Given the description of an element on the screen output the (x, y) to click on. 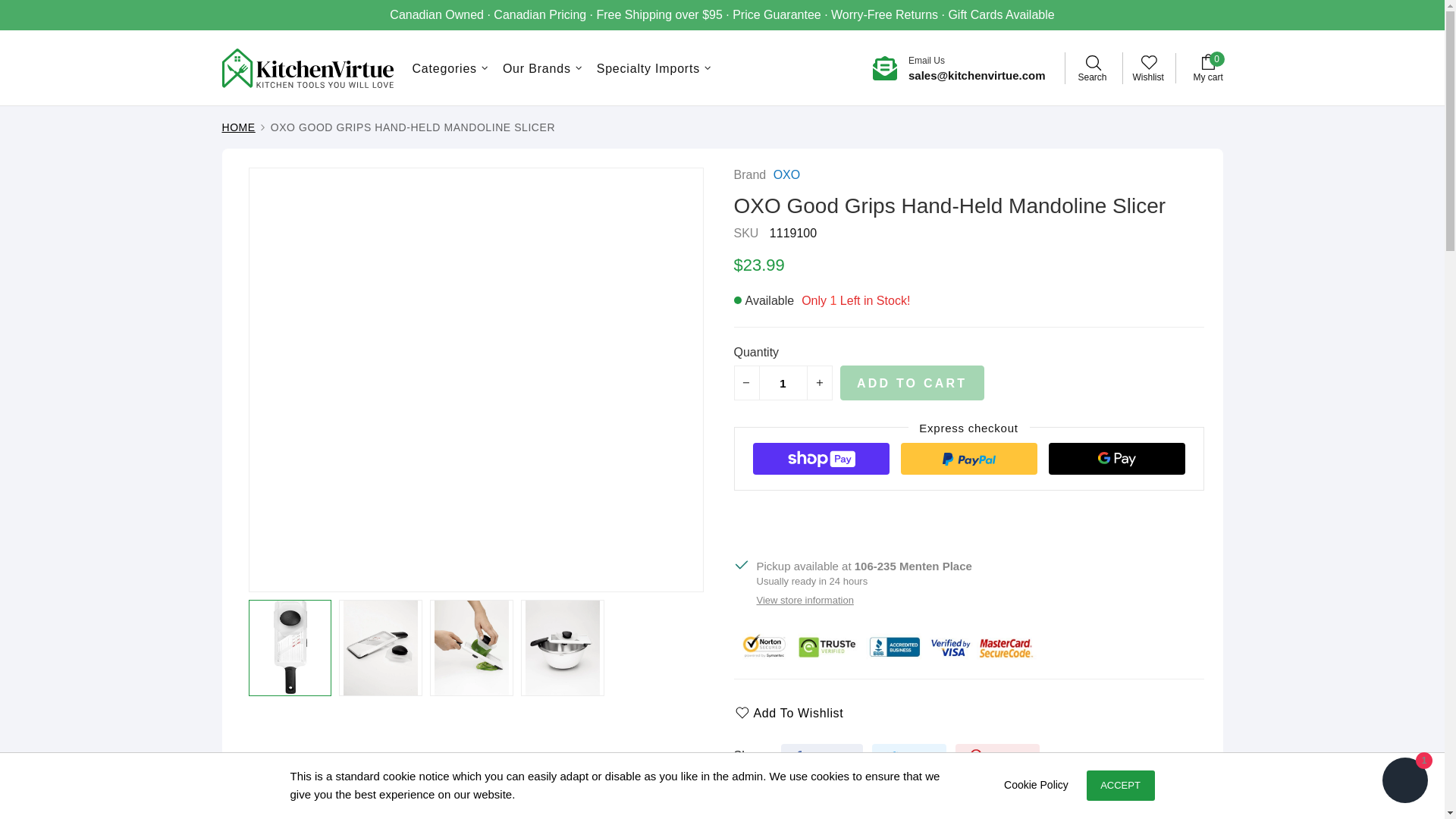
Categories (451, 68)
1 (782, 382)
Shopify online store chat (1404, 781)
KitchenVirtue.com (307, 67)
